Given the description of an element on the screen output the (x, y) to click on. 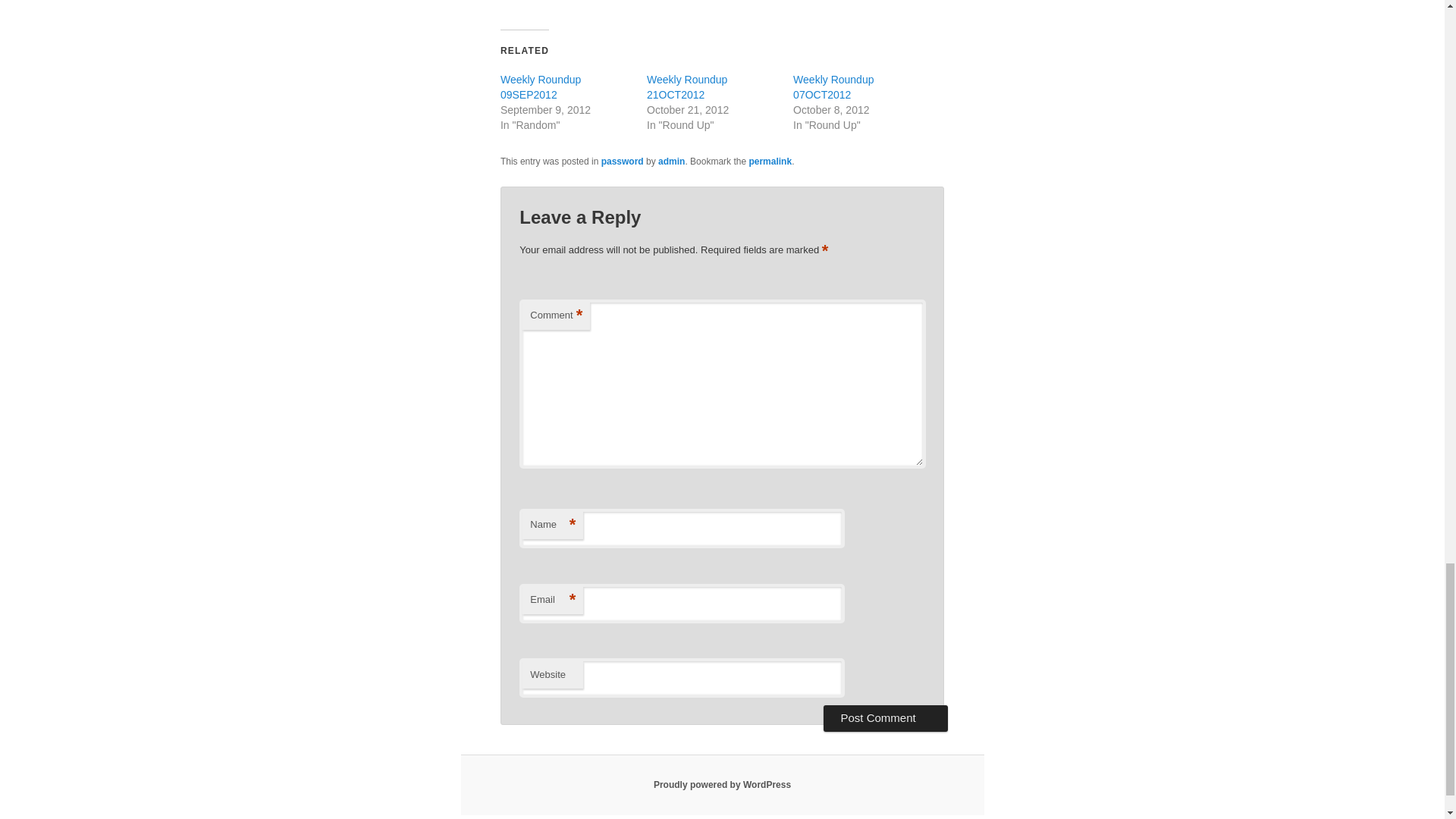
Semantic Personal Publishing Platform (721, 784)
Post Comment (885, 718)
Proudly powered by WordPress (721, 784)
Weekly Roundup 09SEP2012 (540, 86)
Weekly Roundup 21OCT2012 (686, 86)
Permalink to A Brief Note 26FEB2012 (770, 161)
permalink (770, 161)
Post Comment (885, 718)
admin (671, 161)
Weekly Roundup 09SEP2012 (540, 86)
Weekly Roundup 07OCT2012 (833, 86)
Weekly Roundup 07OCT2012 (833, 86)
Like or Reblog (721, 3)
Weekly Roundup 21OCT2012 (686, 86)
password (622, 161)
